Given the description of an element on the screen output the (x, y) to click on. 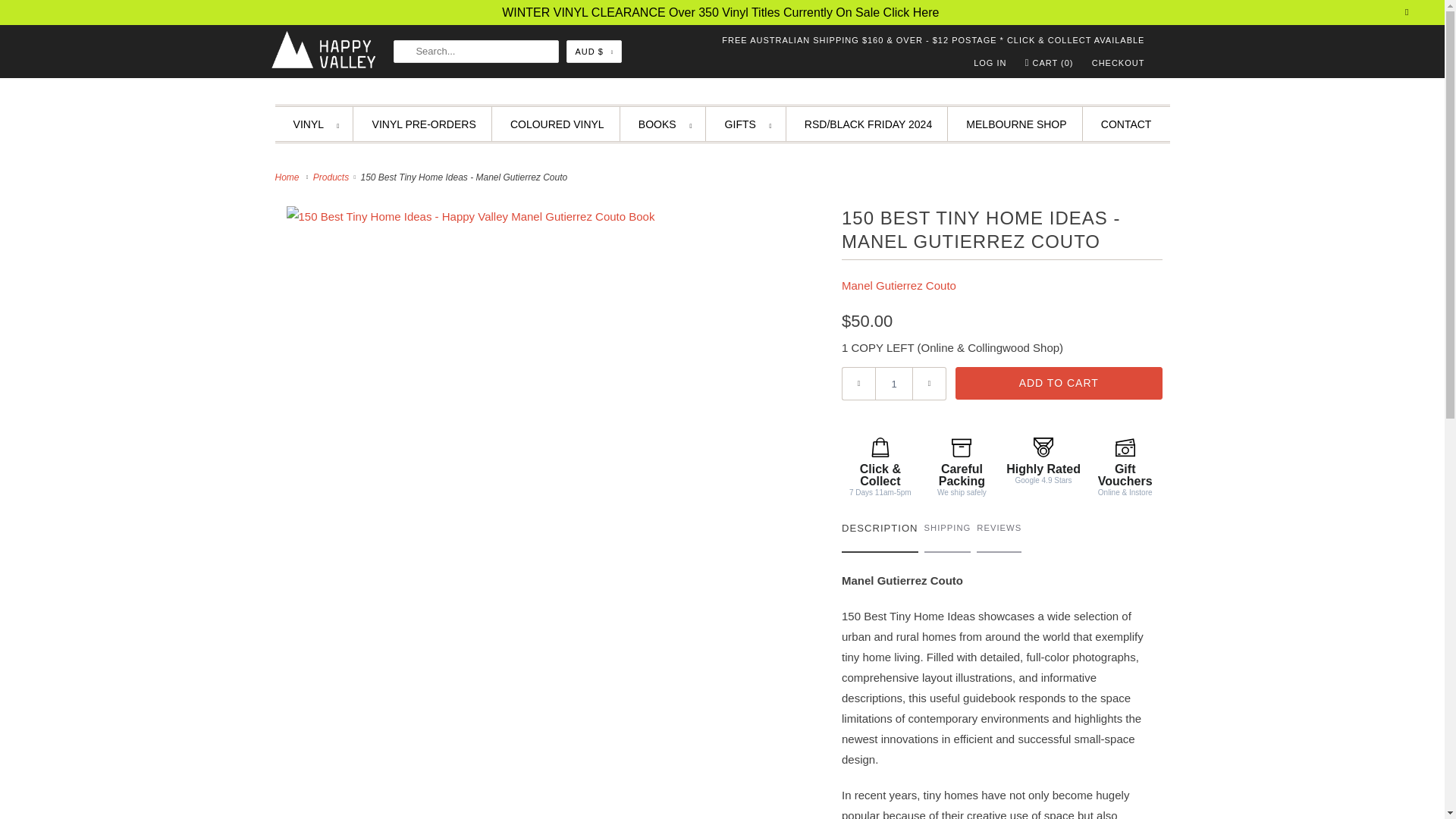
Happy Valley (288, 176)
1 (893, 383)
Products (332, 176)
Manel Gutierrez Couto (898, 285)
LOG IN (990, 62)
CHECKOUT (1118, 62)
